Given the description of an element on the screen output the (x, y) to click on. 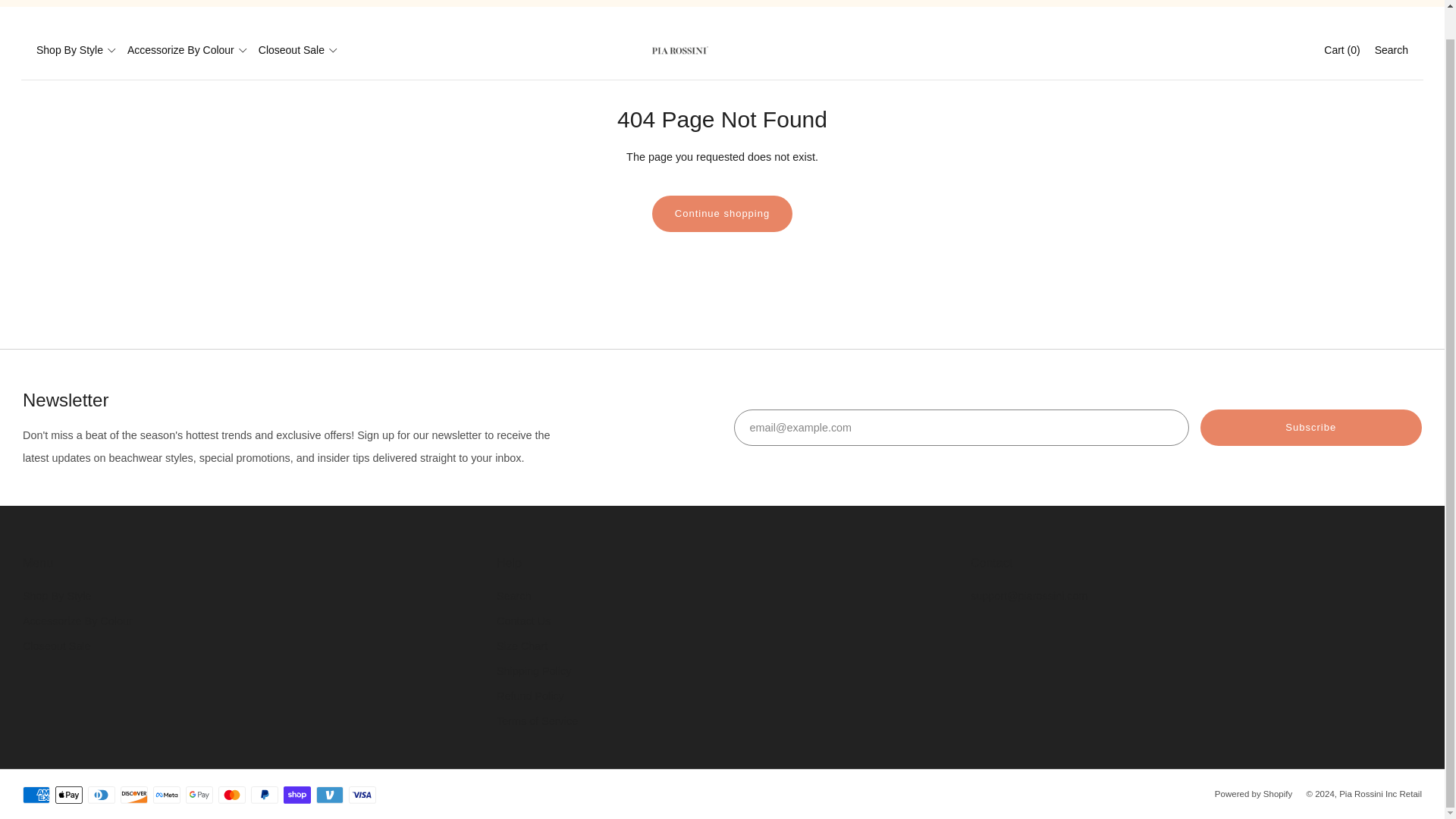
Visa (362, 794)
Google Pay (199, 794)
Discover (134, 794)
American Express (36, 794)
Mastercard (232, 794)
Shop By Style (76, 49)
Apple Pay (68, 794)
Shop Pay (297, 794)
Venmo (329, 794)
PayPal (264, 794)
Meta Pay (166, 794)
Diners Club (101, 794)
Accessorize By Colour (187, 49)
